Given the description of an element on the screen output the (x, y) to click on. 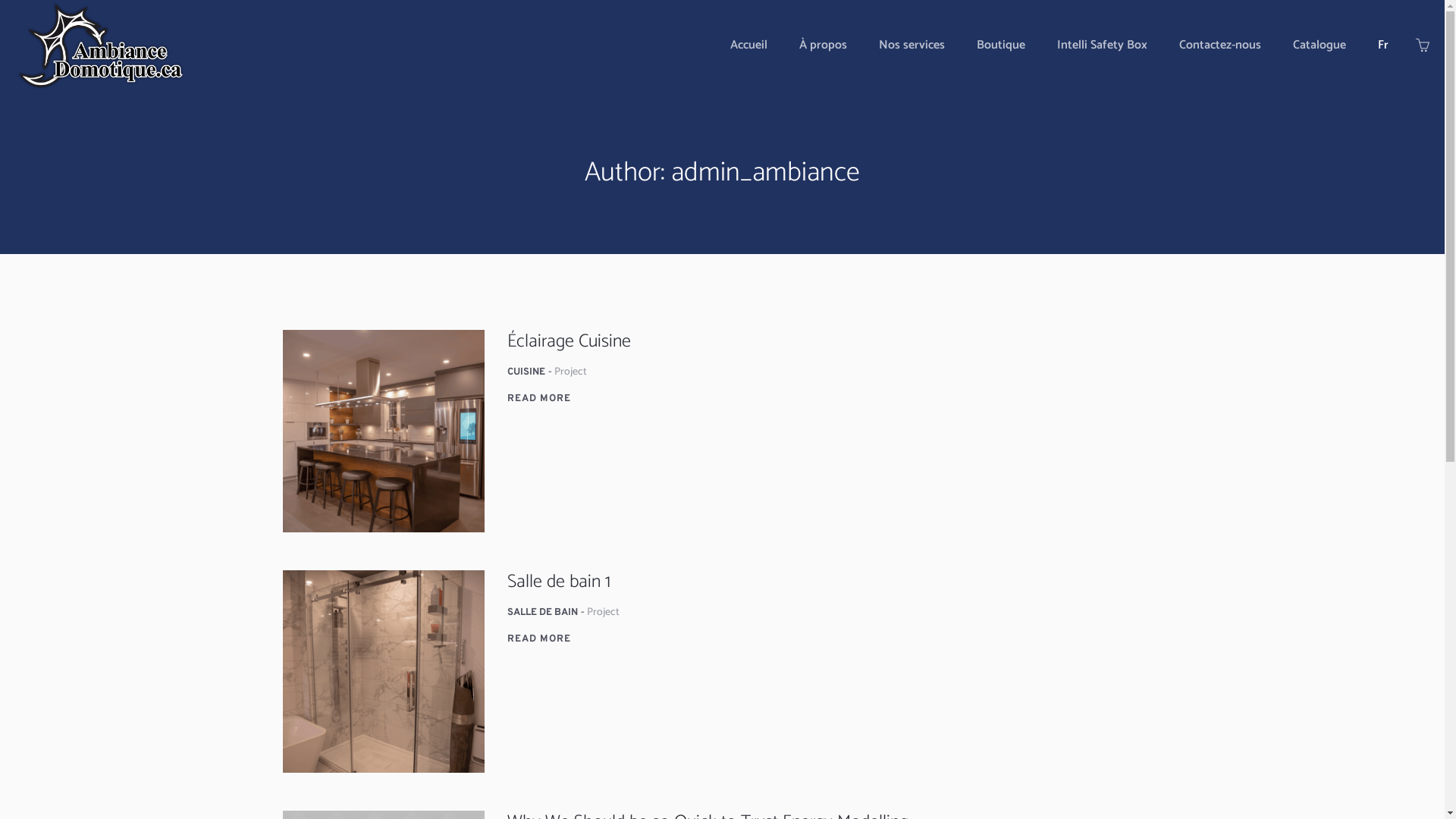
Nos services Element type: text (911, 45)
Catalogue Element type: text (1319, 45)
Salle de bain 1 Element type: text (558, 581)
SALLE DE BAIN Element type: text (542, 612)
READ MORE Element type: text (539, 639)
Accueil Element type: text (748, 45)
Boutique Element type: text (1000, 45)
Salle de bain 1 Element type: hover (383, 671)
CUISINE Element type: text (526, 372)
Intelli Safety Box Element type: text (1102, 45)
Contactez-nous Element type: text (1220, 45)
Fr Element type: text (1382, 45)
READ MORE Element type: text (539, 398)
